Given the description of an element on the screen output the (x, y) to click on. 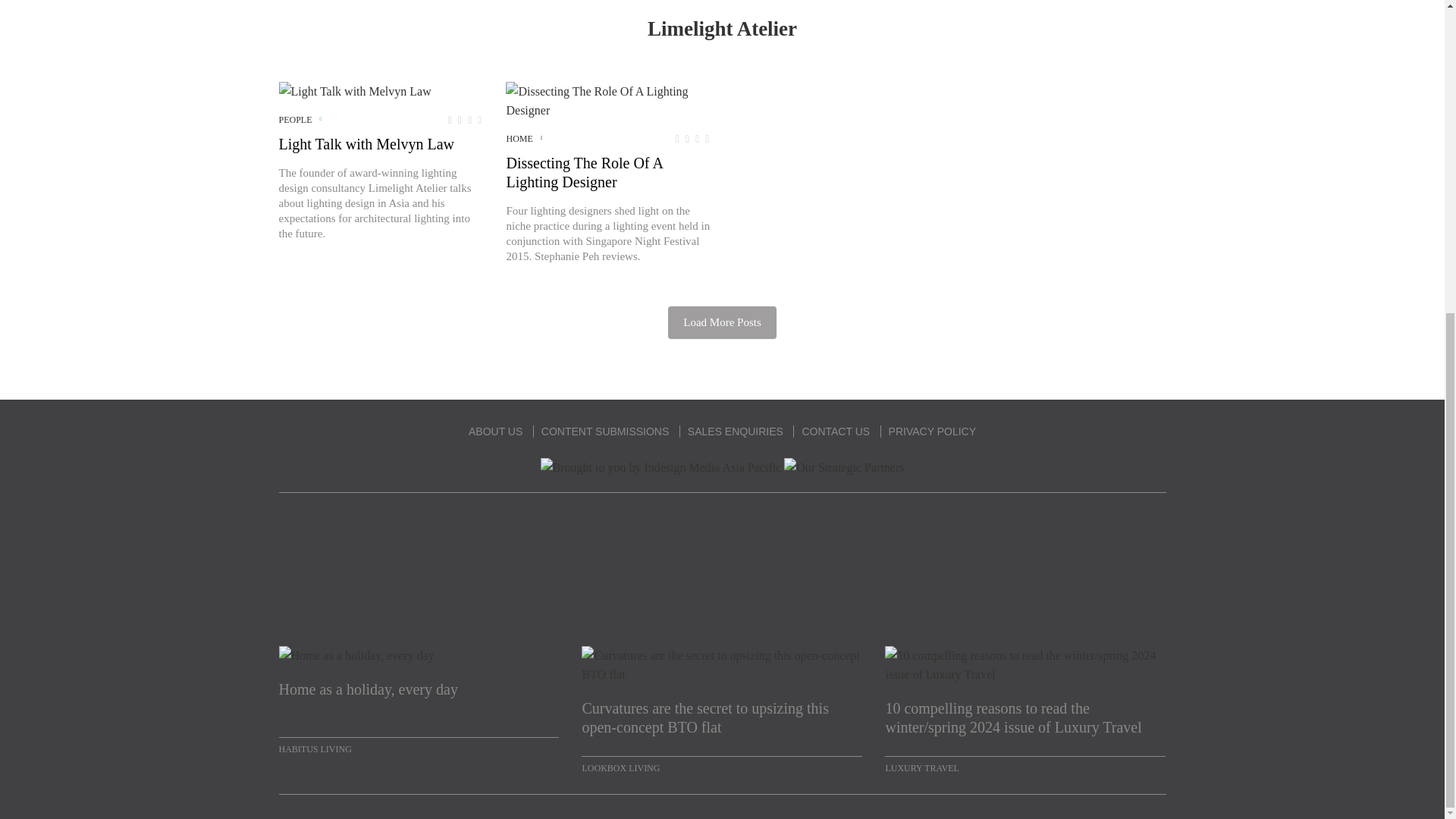
Light Talk with Melvyn Law (354, 90)
Dissecting The Role Of A Lighting Designer (607, 100)
Brought to you by Indesign Media Asia Pacific (660, 466)
Home as a holiday, every day (419, 699)
Our Strategic Partners (844, 466)
